Given the description of an element on the screen output the (x, y) to click on. 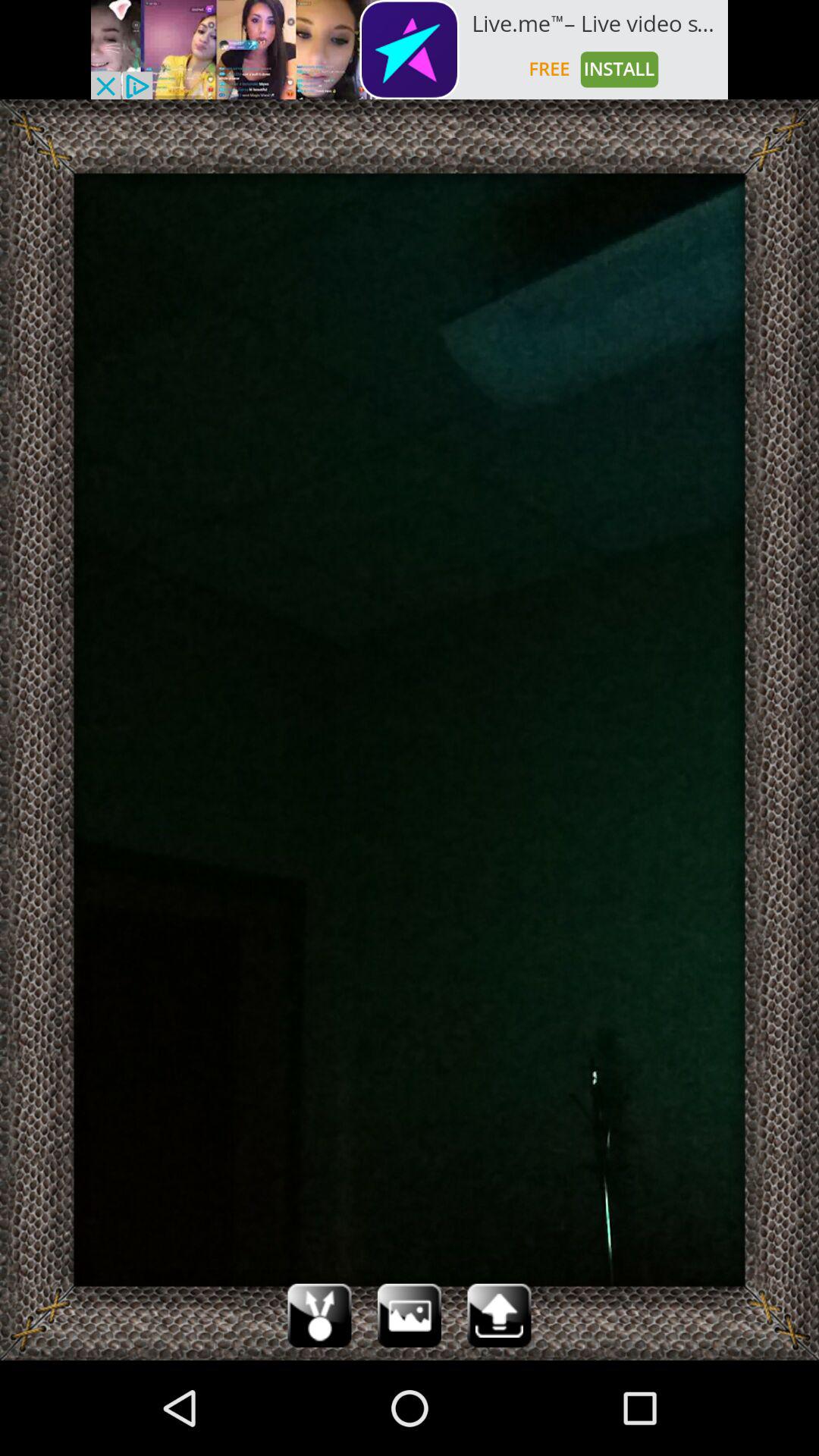
option button (409, 1315)
